Given the description of an element on the screen output the (x, y) to click on. 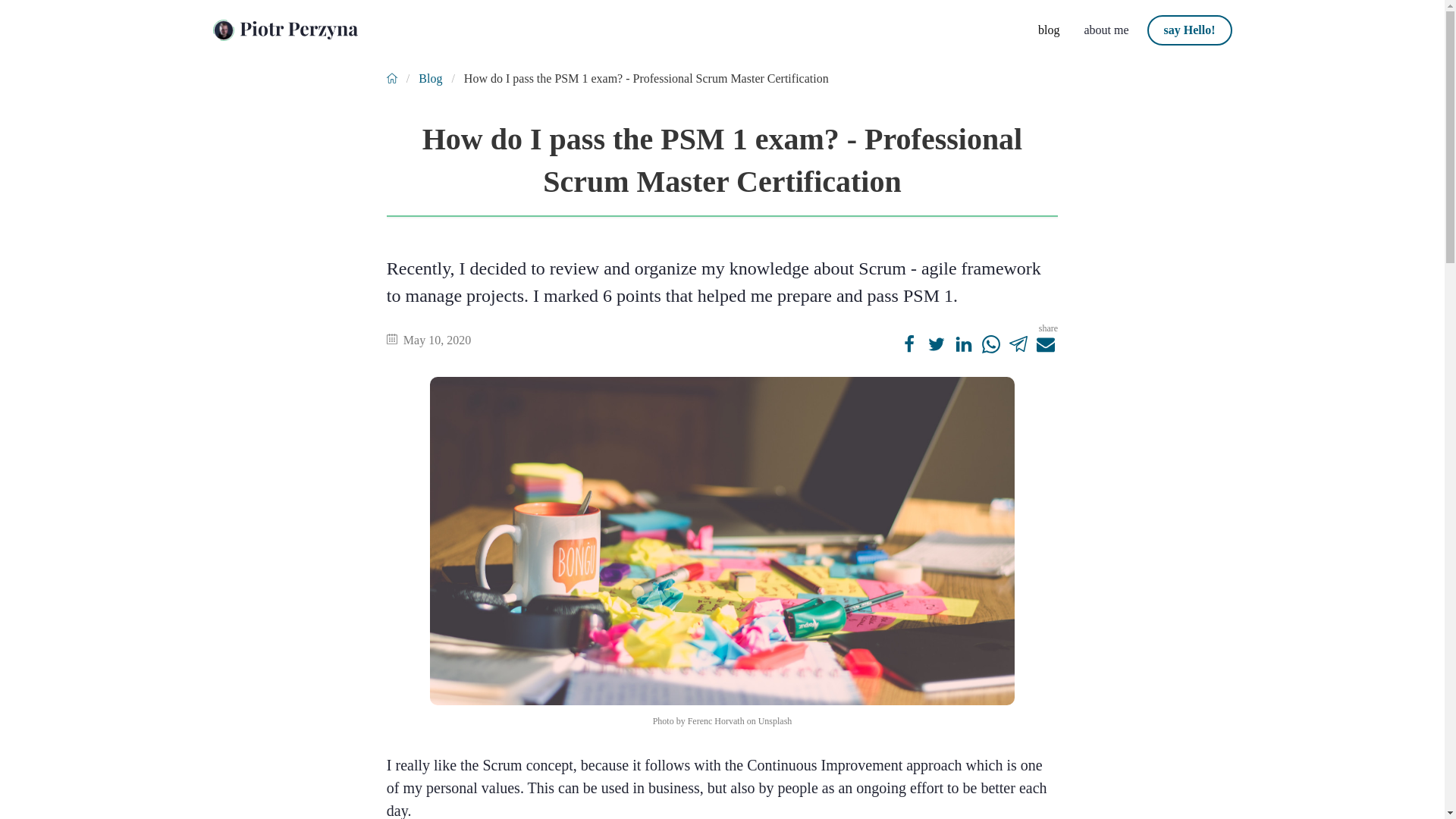
say Hello! (1188, 30)
Piotr Perzyna (284, 30)
Blog (430, 78)
about me (1102, 30)
